Given the description of an element on the screen output the (x, y) to click on. 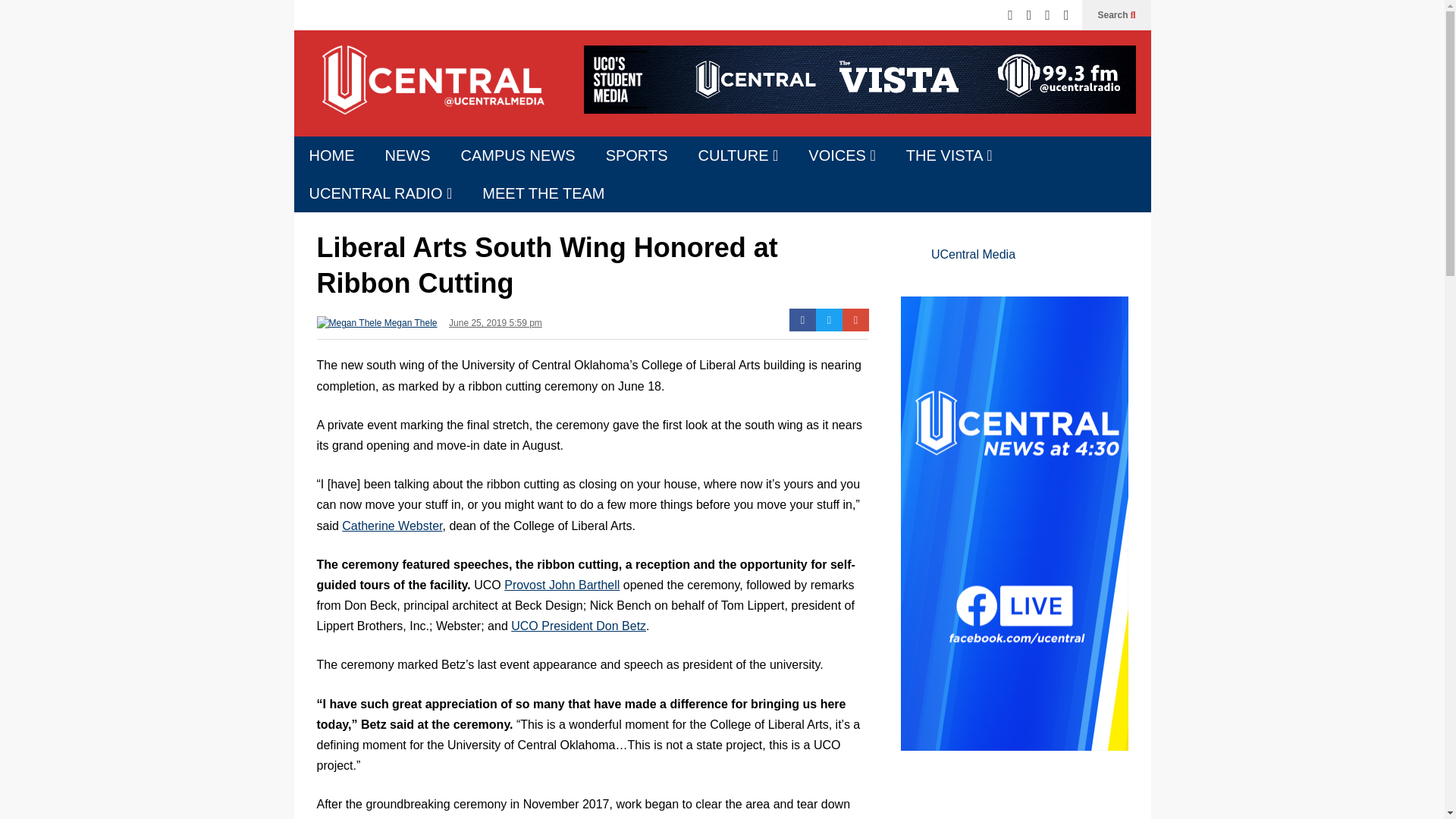
Facebook (802, 319)
THE VISTA (949, 155)
UCentral Media (430, 90)
SPORTS (636, 155)
E-mail (856, 319)
Search (1116, 15)
HOME (331, 155)
Twitter (829, 319)
VOICES (841, 155)
NEWS (407, 155)
